Given the description of an element on the screen output the (x, y) to click on. 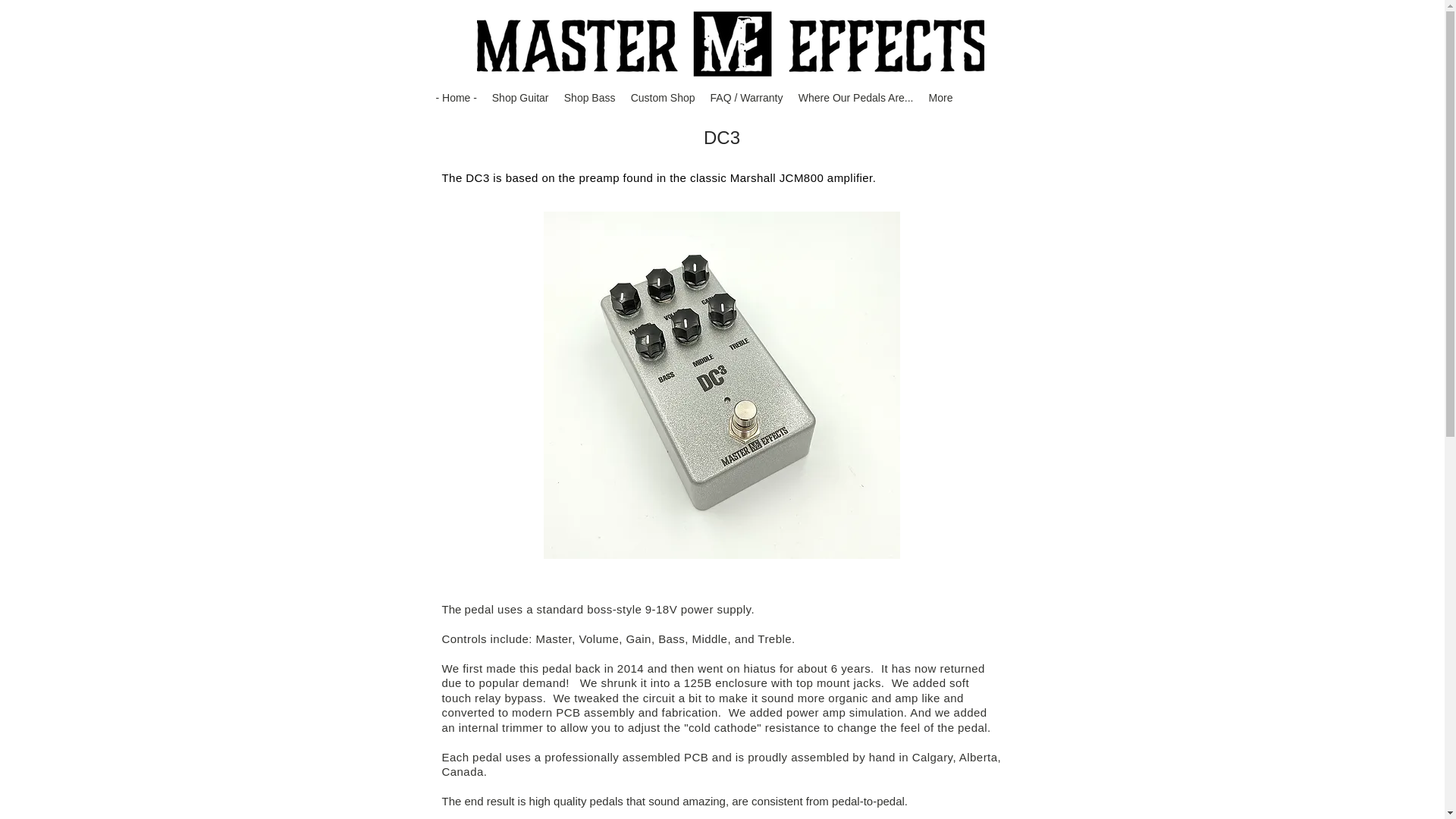
- Home - (455, 97)
Custom Shop (663, 97)
Where Our Pedals Are... (855, 97)
